Given the description of an element on the screen output the (x, y) to click on. 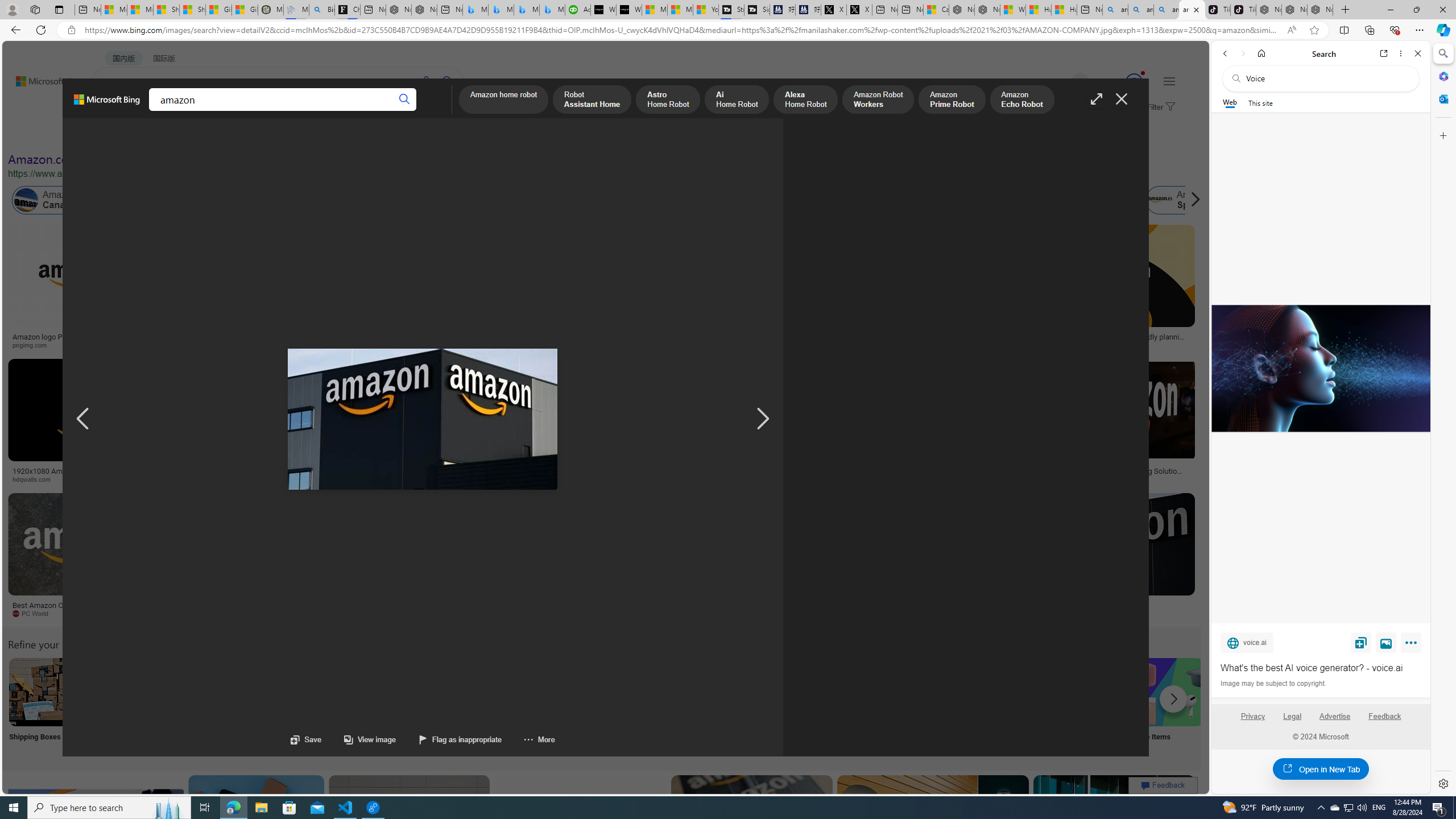
Amazon Package Delivery Package Delivery (418, 706)
Dallas Morning News (749, 479)
mobilemarketingmagazine.com (1054, 479)
GOBankingRates (225, 479)
Settings and quick links (1168, 80)
Collections (208, 111)
Dallas Morning News (791, 479)
